Given the description of an element on the screen output the (x, y) to click on. 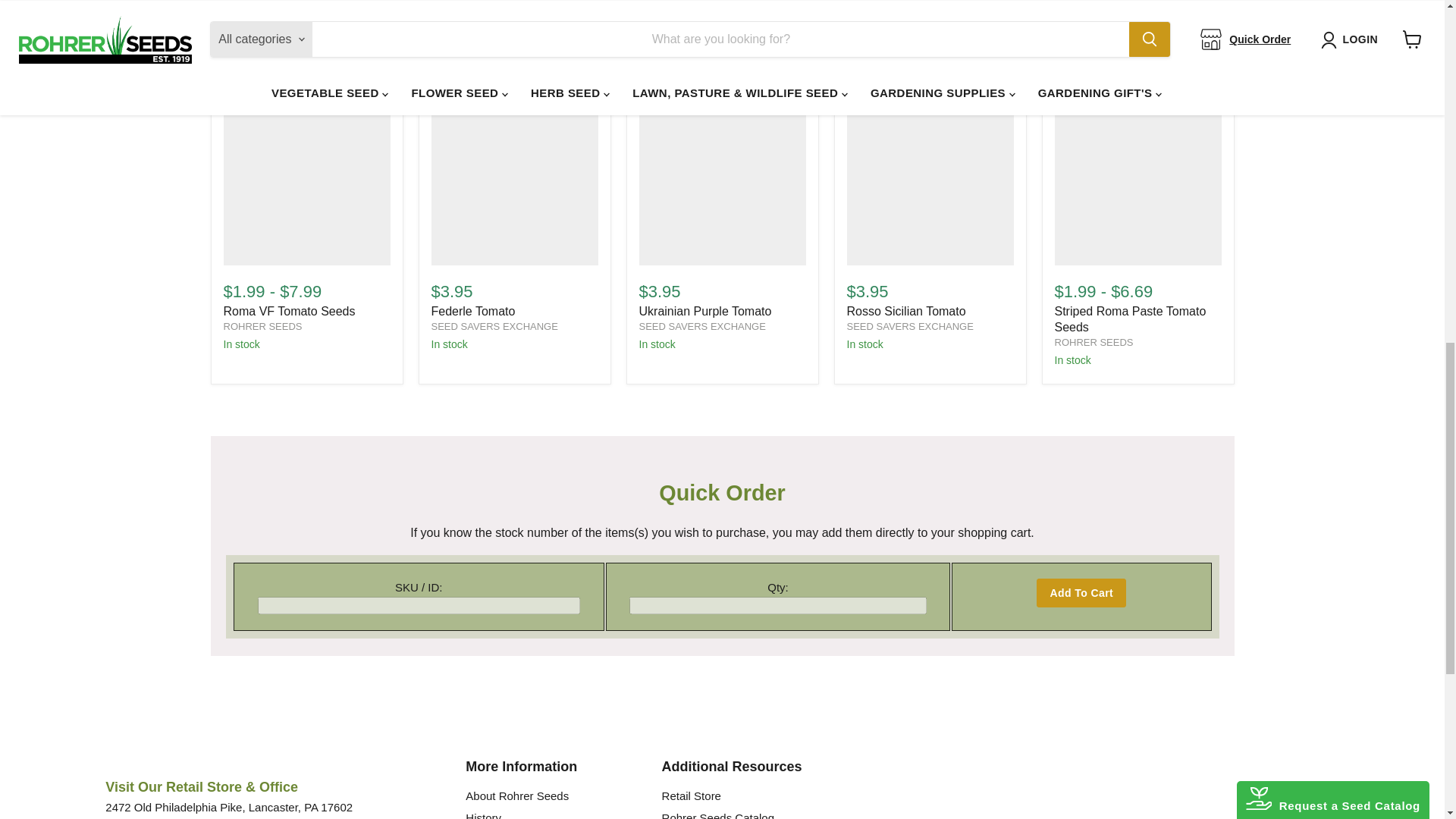
SEED SAVERS EXCHANGE (702, 326)
ROHRER SEEDS (1093, 342)
ROHRER SEEDS (261, 326)
SEED SAVERS EXCHANGE (493, 326)
SEED SAVERS EXCHANGE (908, 326)
